Given the description of an element on the screen output the (x, y) to click on. 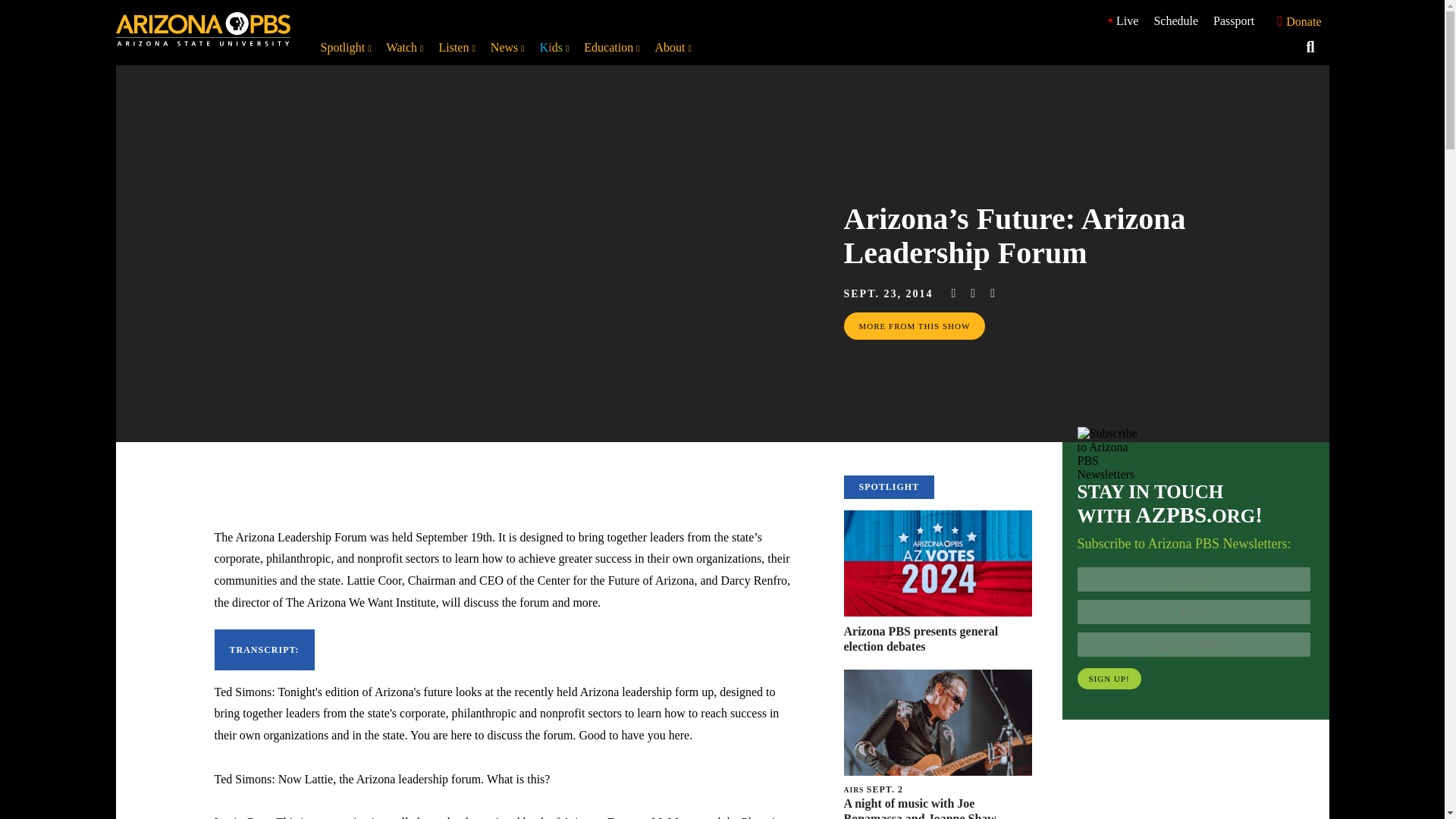
Watch (404, 47)
Schedule (1175, 20)
Passport (1232, 19)
Donate (1294, 20)
SKIP TO CONTENT (15, 7)
Spotlight (345, 47)
Sign up! (1108, 678)
Passport (1233, 20)
Donate (1294, 21)
Schedule (1175, 19)
